Given the description of an element on the screen output the (x, y) to click on. 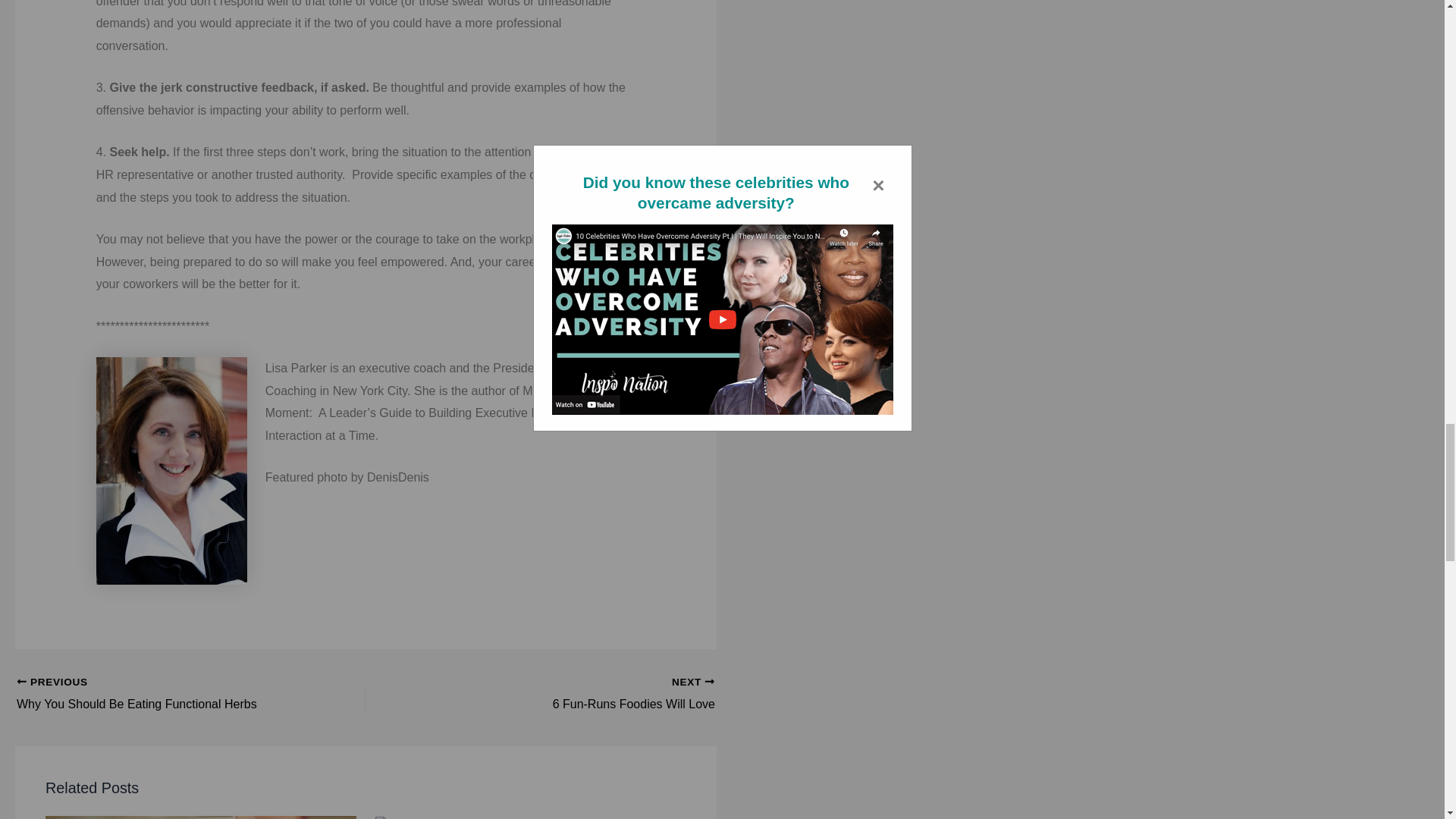
6 Fun-Runs Foodies Will Love (573, 694)
Why You Should Be Eating Functional Herbs (156, 694)
